Given the description of an element on the screen output the (x, y) to click on. 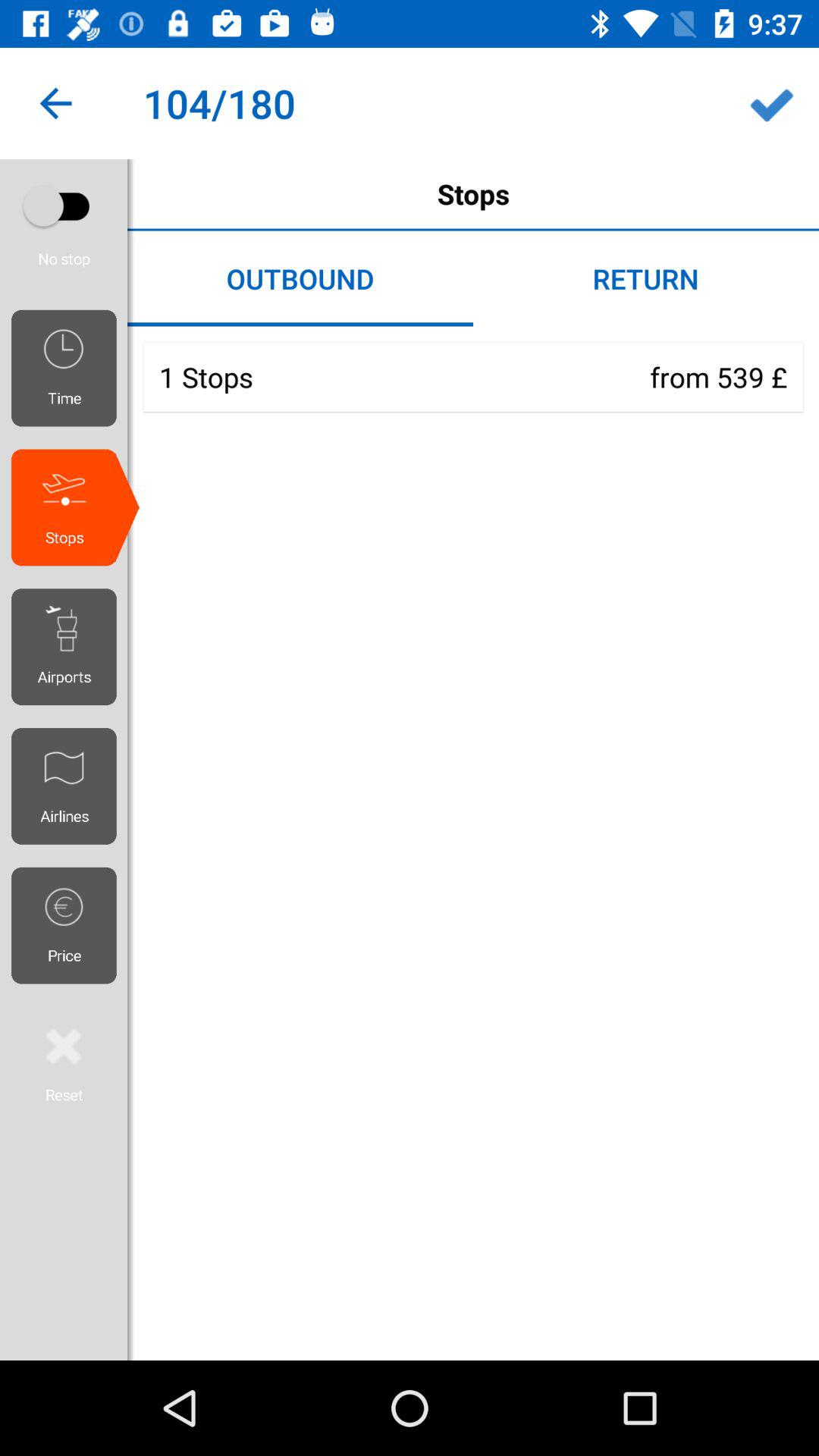
open the price icon (69, 925)
